Given the description of an element on the screen output the (x, y) to click on. 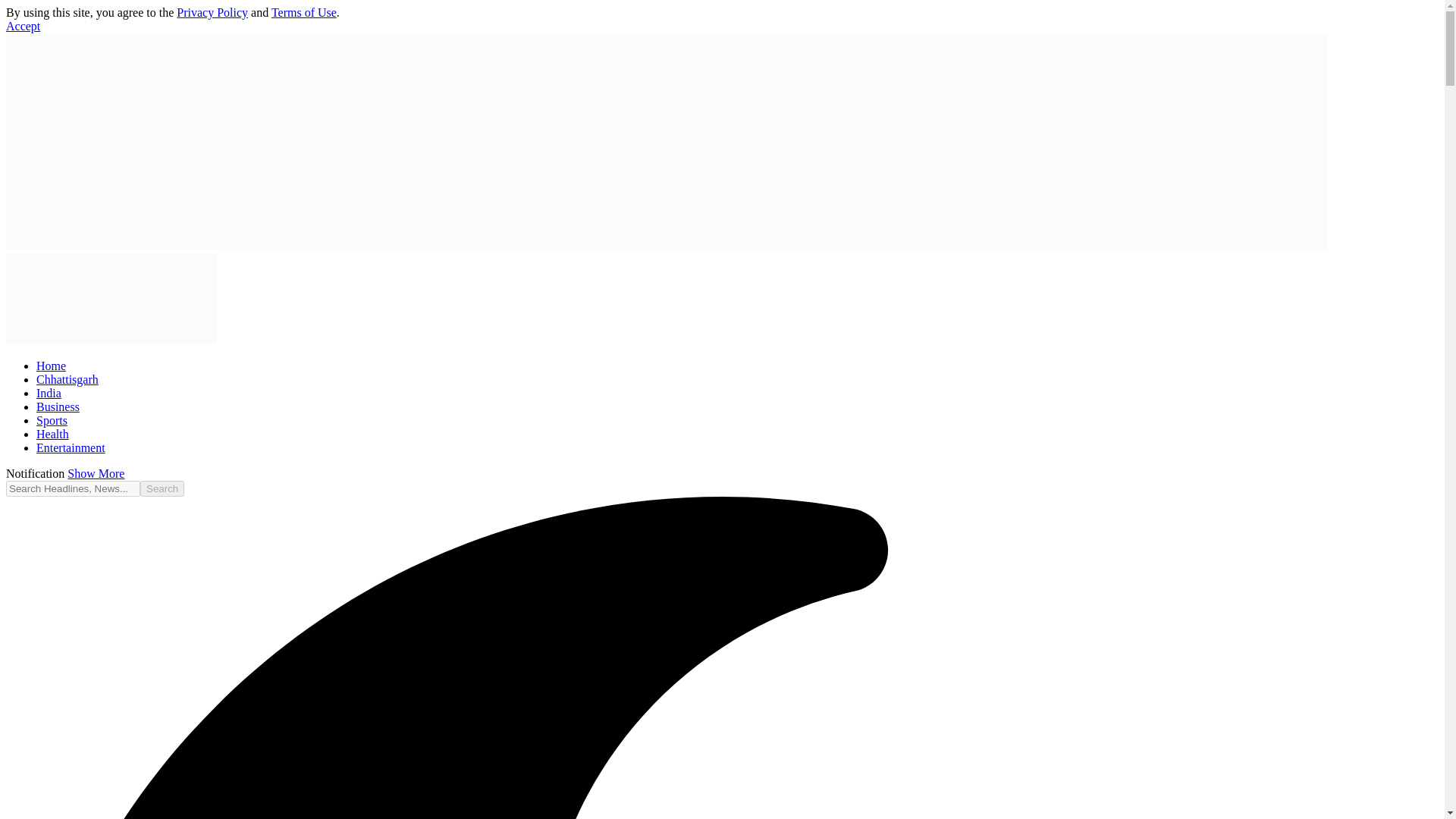
Privacy Policy (211, 11)
Business (58, 406)
Home (50, 365)
Show More (94, 472)
Chhattisgarh (67, 379)
Search (161, 488)
Terms of Use (303, 11)
Sports (51, 420)
Entertainment (70, 447)
